Given the description of an element on the screen output the (x, y) to click on. 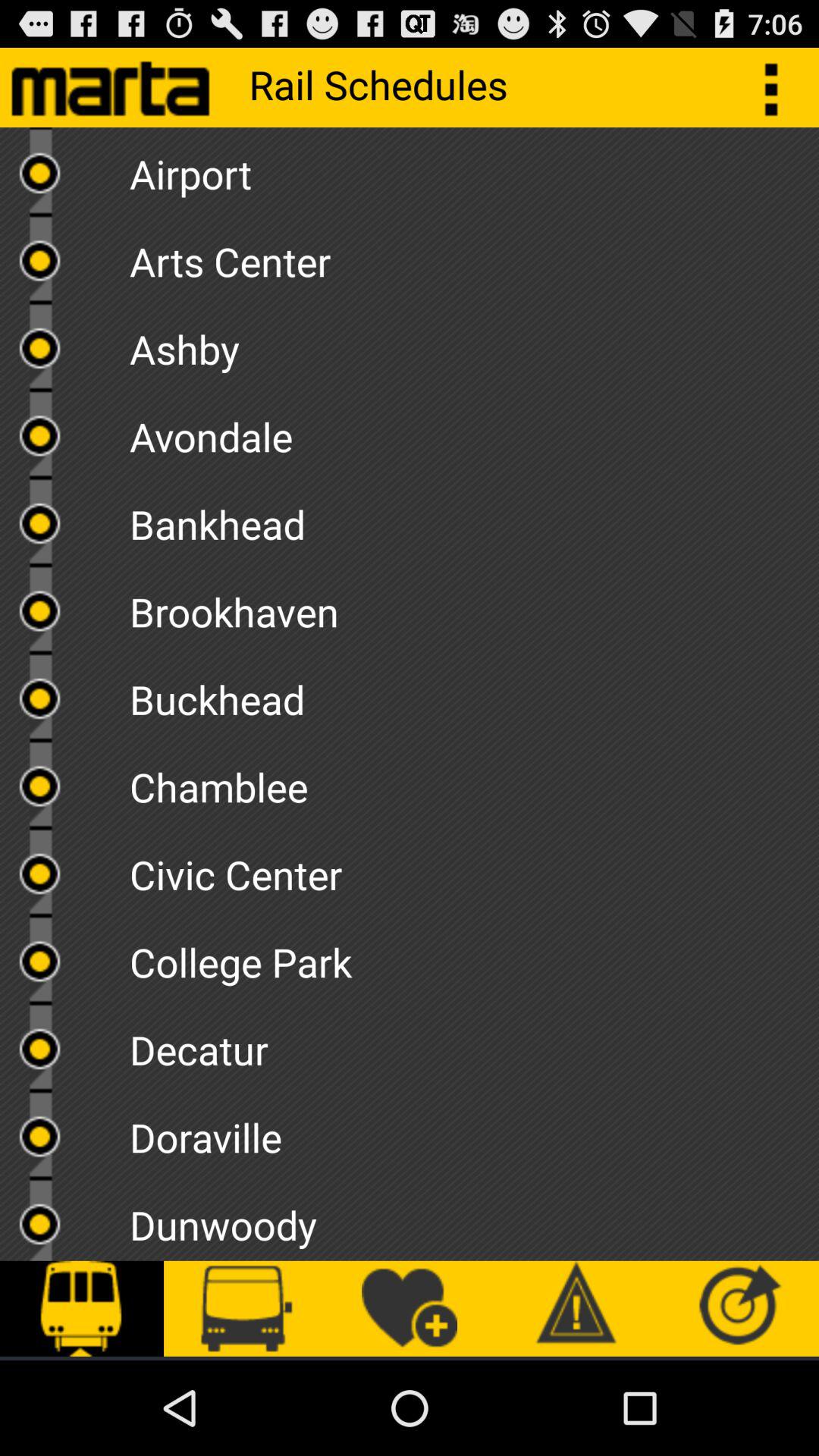
select icon above the decatur (474, 956)
